Given the description of an element on the screen output the (x, y) to click on. 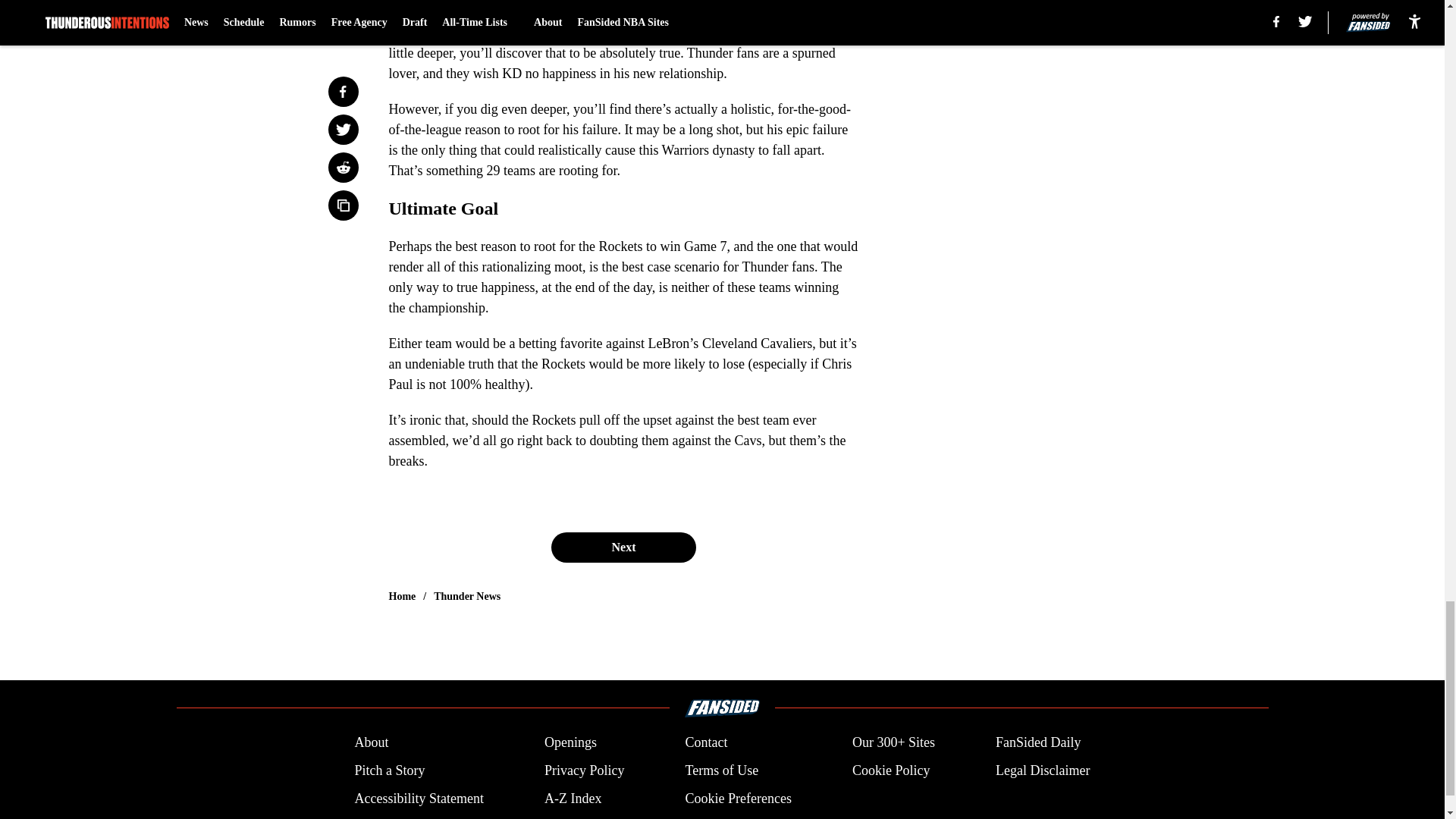
Privacy Policy (584, 770)
Openings (570, 742)
Legal Disclaimer (1042, 770)
Thunder News (466, 596)
Pitch a Story (389, 770)
Home (401, 596)
FanSided Daily (1038, 742)
About (370, 742)
Cookie Policy (890, 770)
Next (622, 547)
